Given the description of an element on the screen output the (x, y) to click on. 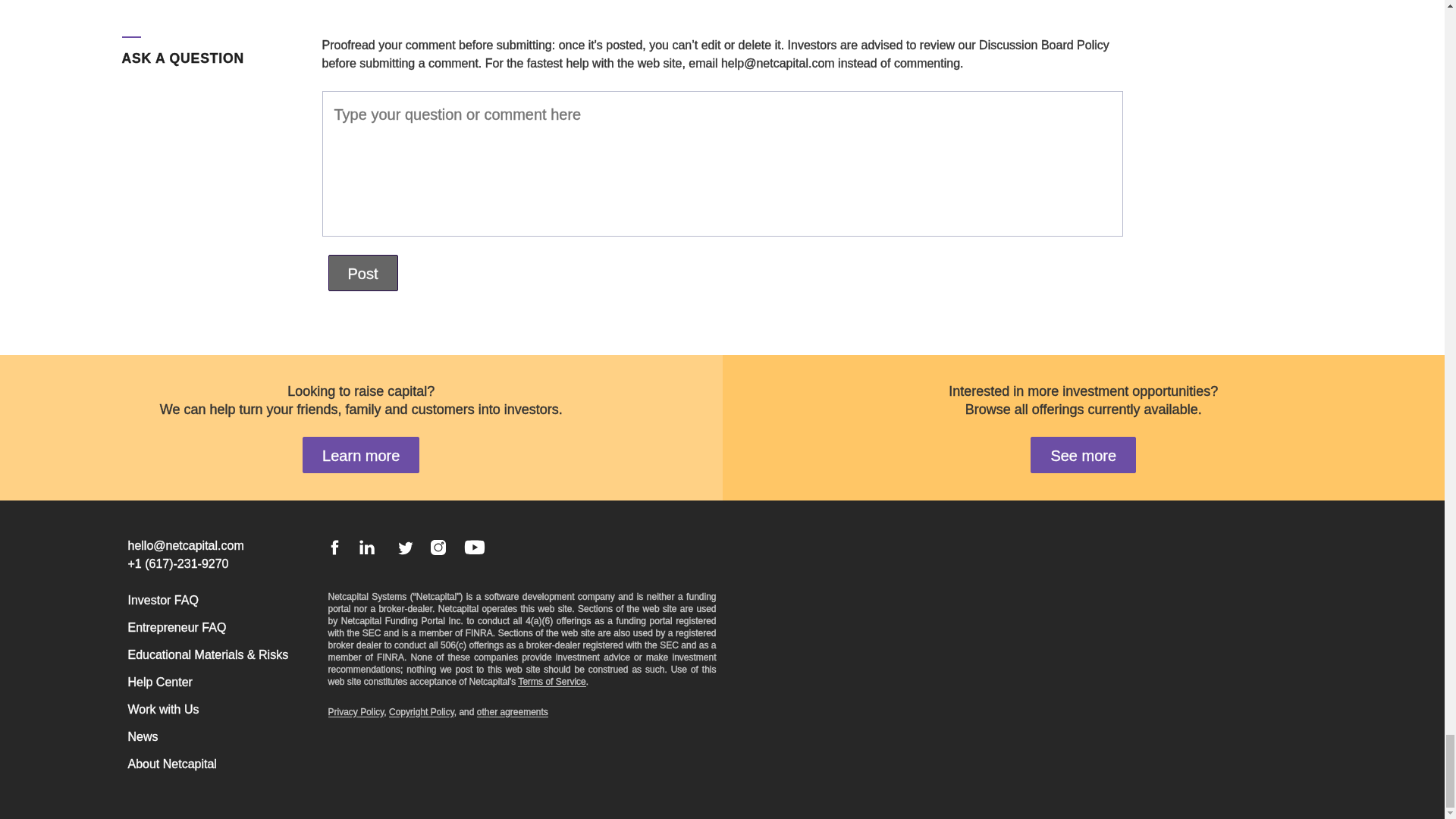
United States Securities and Exchange Commission (668, 644)
Post (362, 272)
United States Securities and Exchange Commission (371, 633)
